Given the description of an element on the screen output the (x, y) to click on. 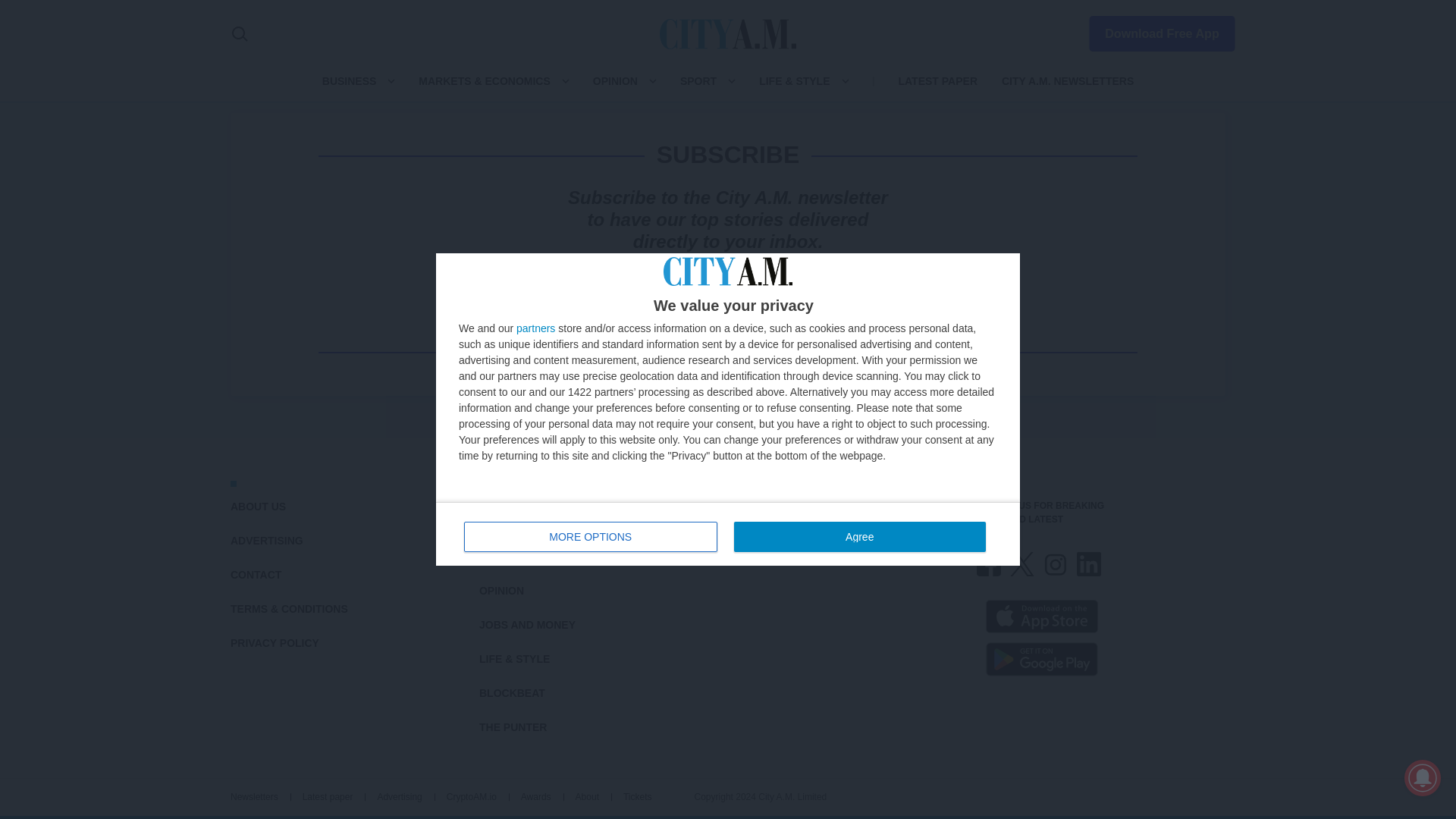
FACEBOOK (988, 564)
LINKEDIN (1088, 564)
INSTAGRAM (1055, 564)
X (1021, 564)
